Given the description of an element on the screen output the (x, y) to click on. 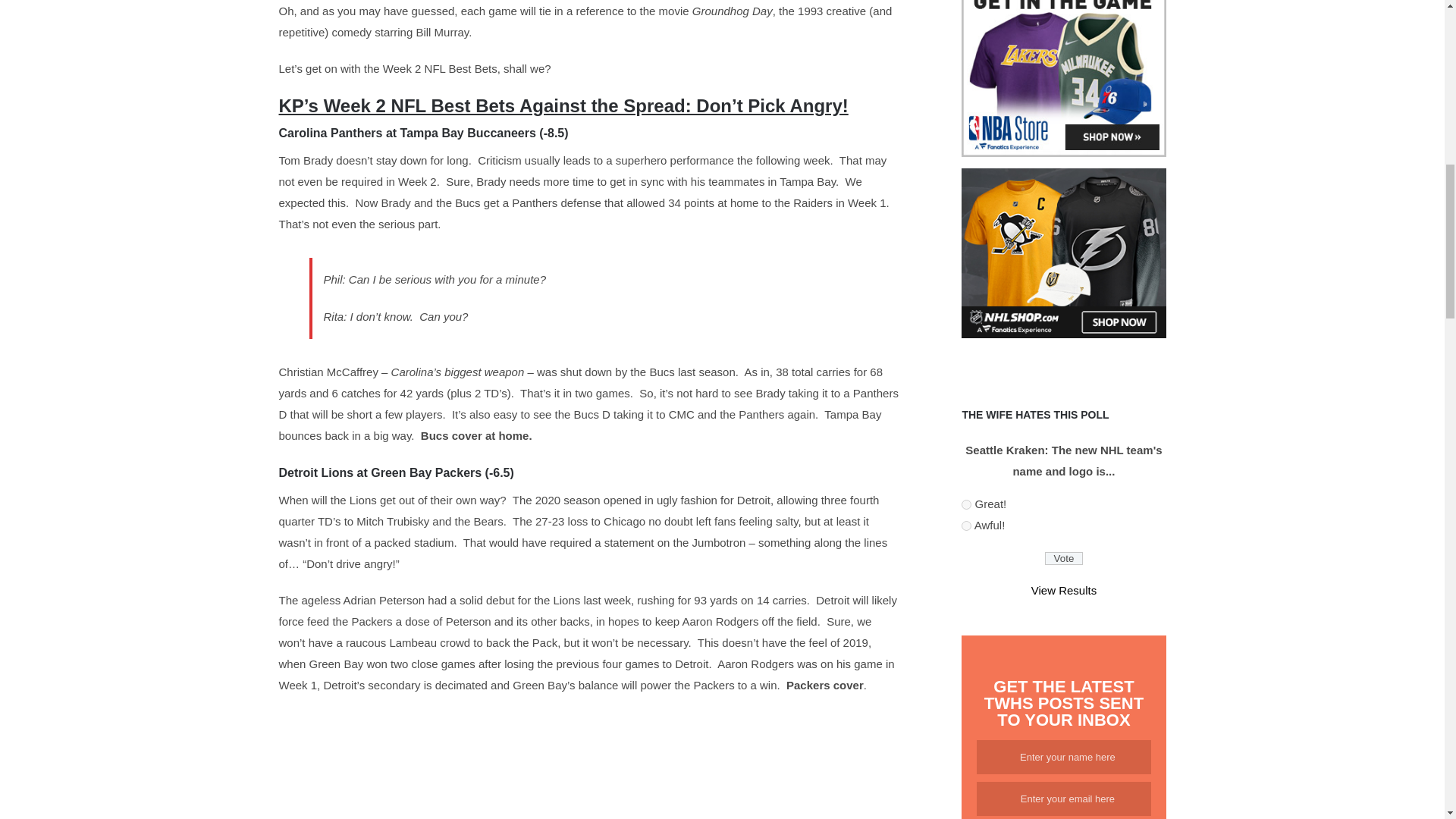
   Vote    (1064, 558)
375 (965, 525)
View Results Of This Poll (1063, 590)
374 (965, 504)
